Given the description of an element on the screen output the (x, y) to click on. 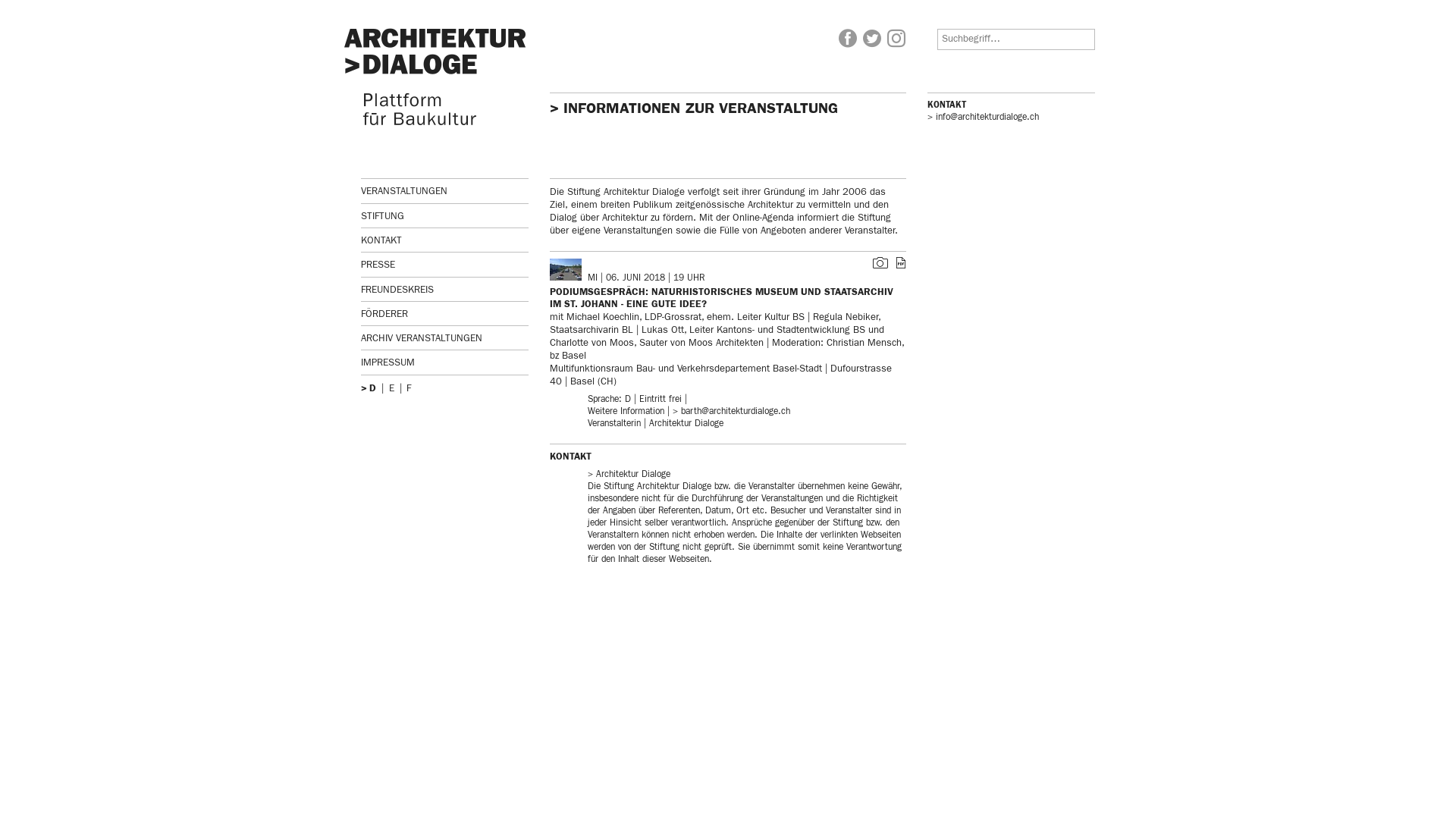
barth@architekturdialoge.ch Element type: text (731, 411)
Architektur Dialoge: zur Startseite Element type: hover (436, 76)
ARCHIV VERANSTALTUNGEN Element type: text (444, 338)
Architektur Dialoge Element type: text (628, 474)
PRESSE Element type: text (444, 264)
F Element type: text (408, 388)
E Element type: text (391, 388)
FREUNDESKREIS Element type: text (444, 289)
STIFTUNG Element type: text (444, 216)
KONTAKT Element type: text (444, 240)
Instagram Element type: hover (896, 39)
Quartier St. Johann, Foto: Sarah Barth Element type: hover (880, 264)
VERANSTALTUNGEN Element type: text (444, 191)
Twitter Element type: hover (871, 39)
D Element type: text (372, 388)
Facebook Element type: hover (847, 39)
Suchen Element type: text (82, 10)
IMPRESSUM Element type: text (444, 362)
info@architekturdialoge.ch Element type: text (982, 117)
